Given the description of an element on the screen output the (x, y) to click on. 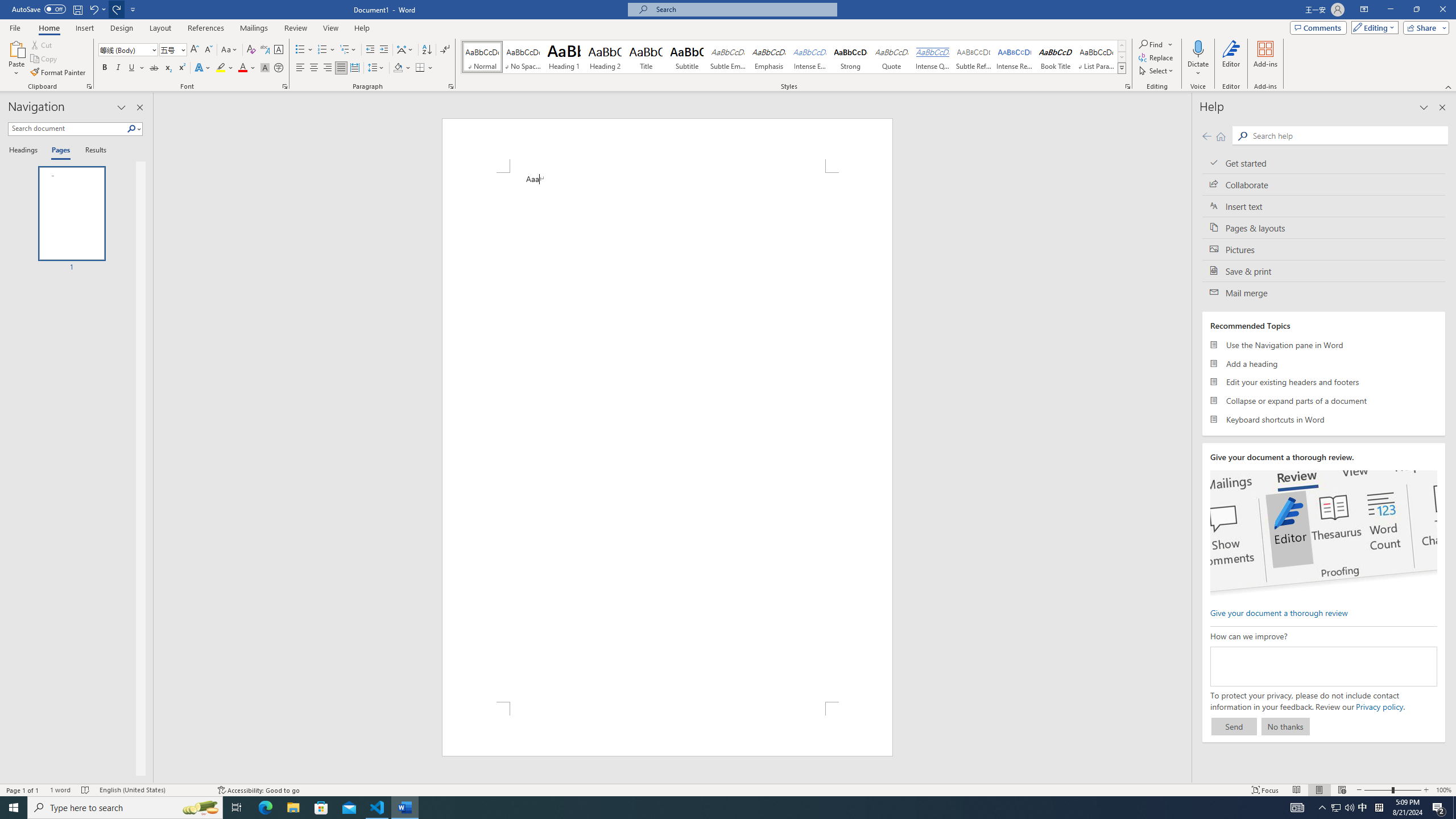
Undo Apply Quick Style (96, 9)
Add a heading (1323, 363)
Send (1233, 726)
Show/Hide Editing Marks (444, 49)
Strikethrough (154, 67)
editor ui screenshot (1323, 533)
Distributed (354, 67)
Clear Formatting (250, 49)
Heading 2 (605, 56)
